Given the description of an element on the screen output the (x, y) to click on. 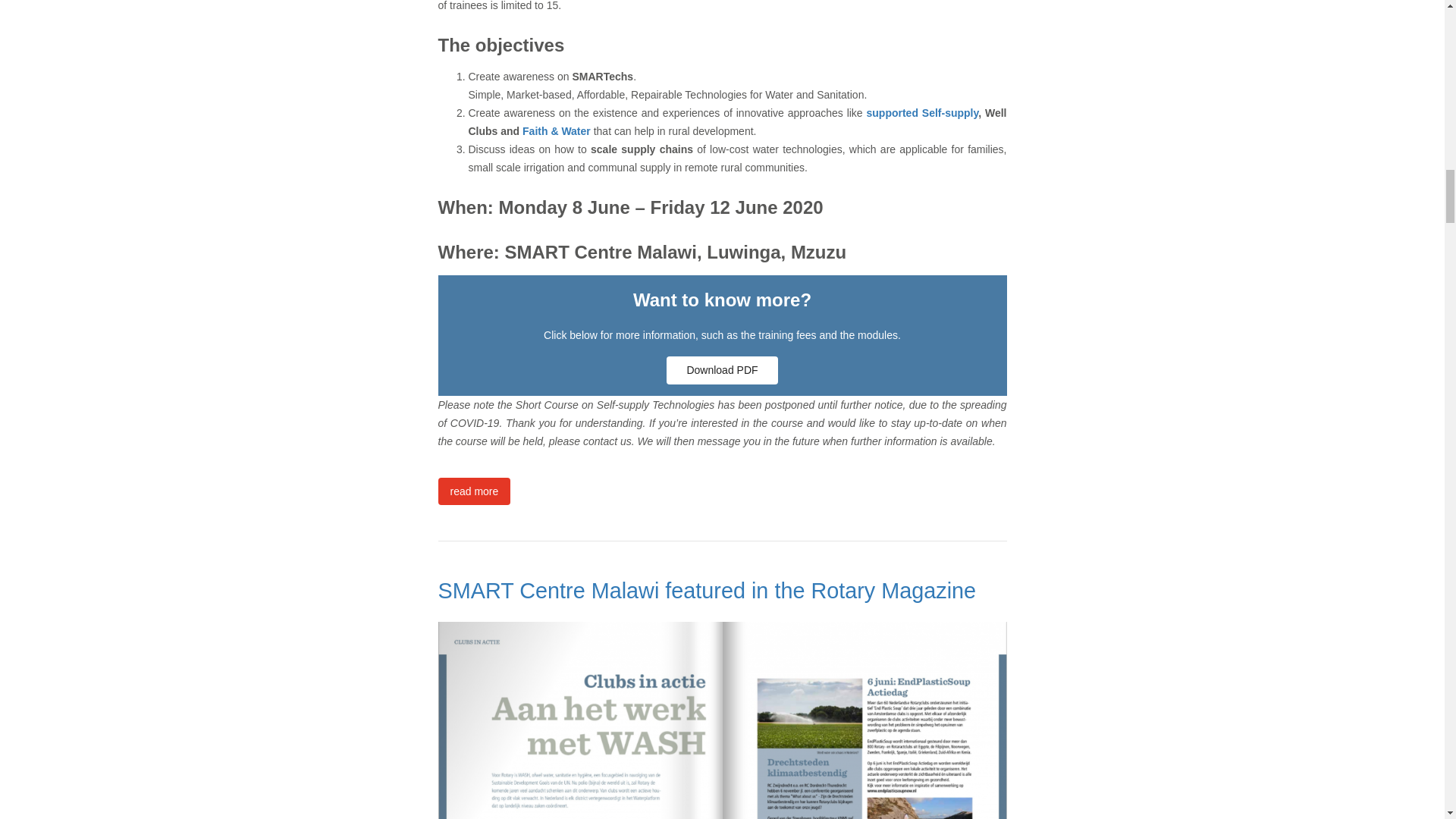
SMART Centre Malawi featured in the Rotary Magazine (707, 590)
Download PDF (721, 370)
read more (474, 491)
supported Self-supply (922, 112)
